Given the description of an element on the screen output the (x, y) to click on. 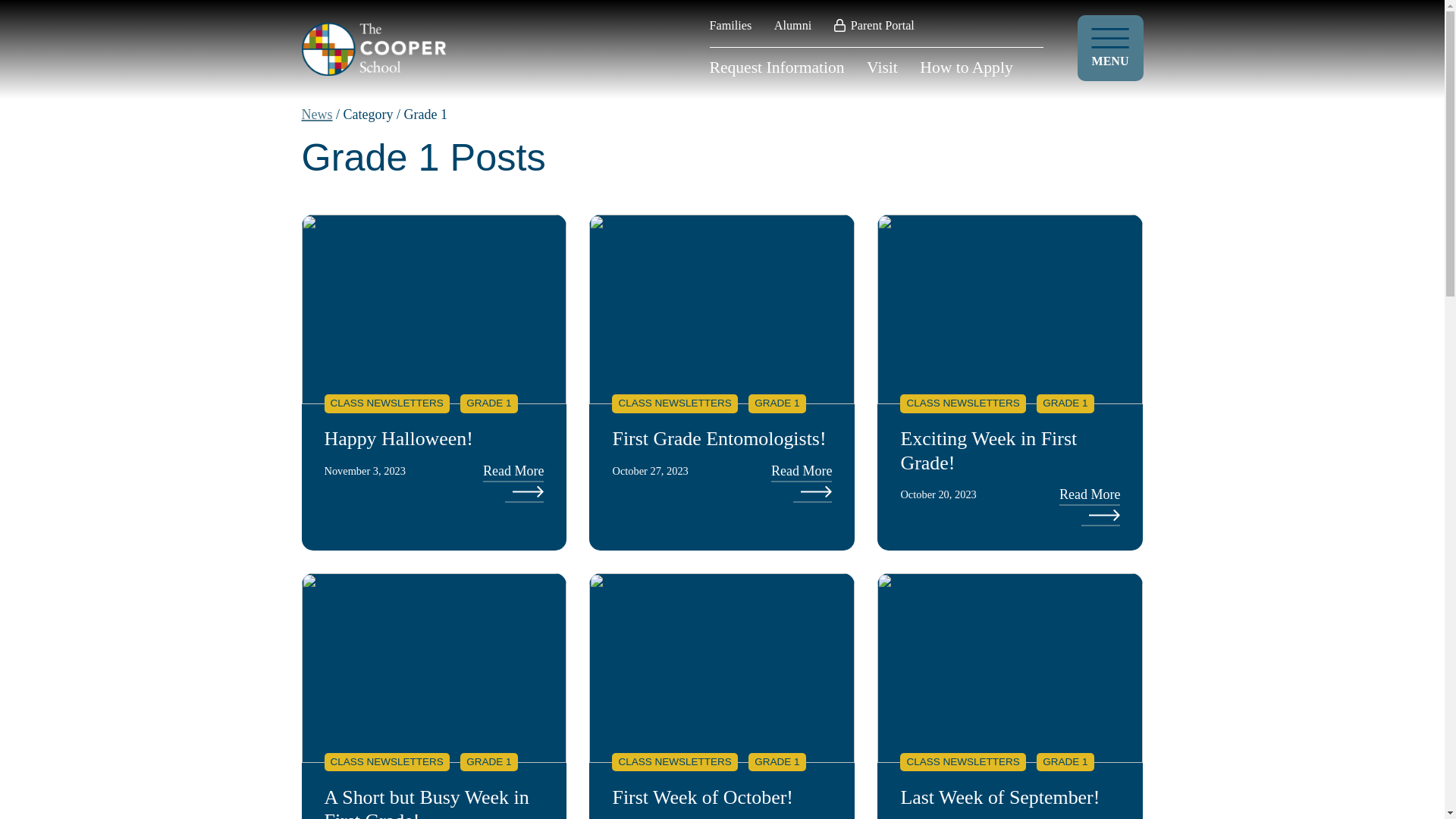
Families (731, 25)
MENU (1109, 48)
Parent Portal (874, 25)
Alumni (792, 25)
Request Information (777, 67)
How to Apply (965, 67)
Visit (882, 67)
